Given the description of an element on the screen output the (x, y) to click on. 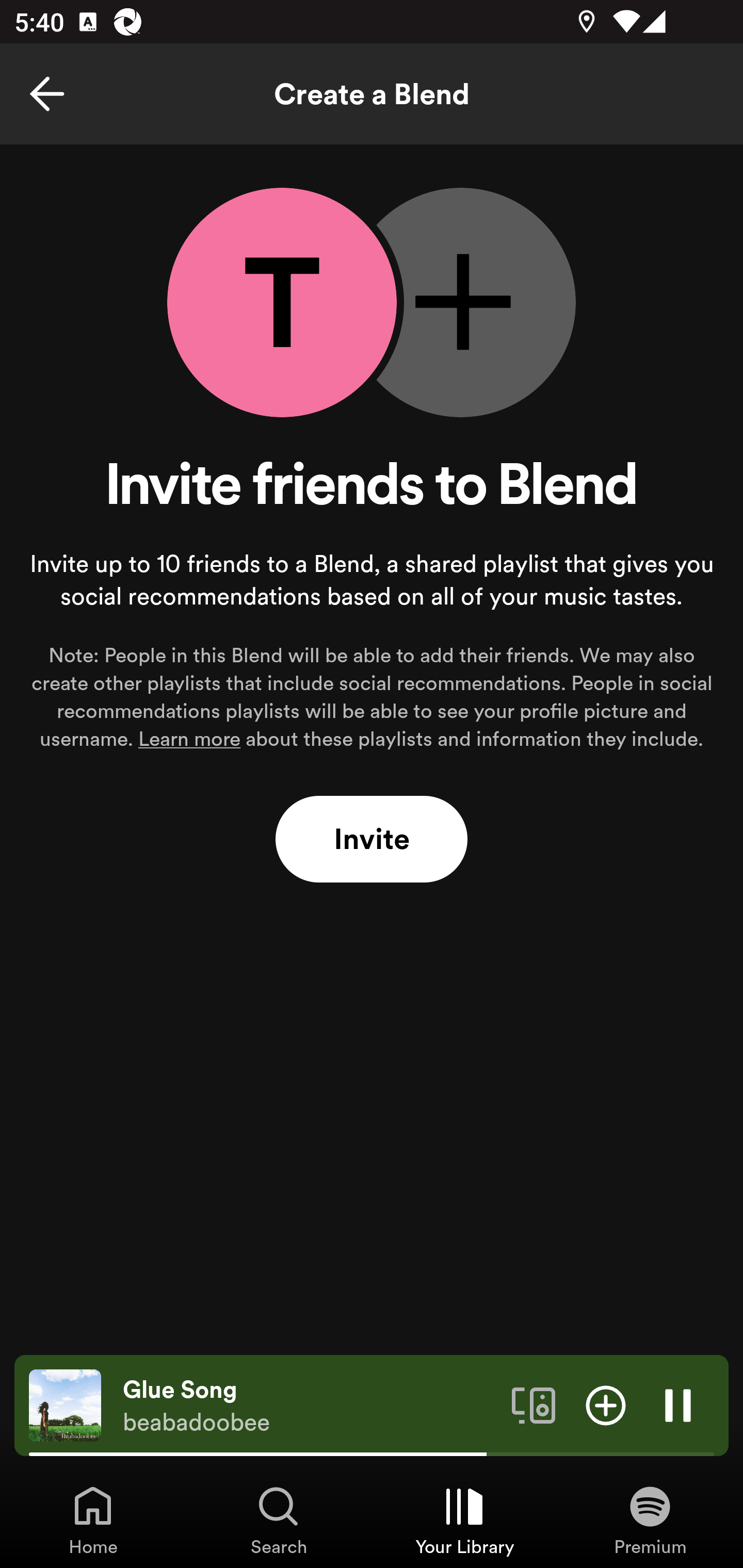
Back (46, 93)
Invite (371, 839)
Glue Song beabadoobee (309, 1405)
The cover art of the currently playing track (64, 1404)
Connect to a device. Opens the devices menu (533, 1404)
Add item (605, 1404)
Pause (677, 1404)
Home, Tab 1 of 4 Home Home (92, 1519)
Search, Tab 2 of 4 Search Search (278, 1519)
Your Library, Tab 3 of 4 Your Library Your Library (464, 1519)
Premium, Tab 4 of 4 Premium Premium (650, 1519)
